Given the description of an element on the screen output the (x, y) to click on. 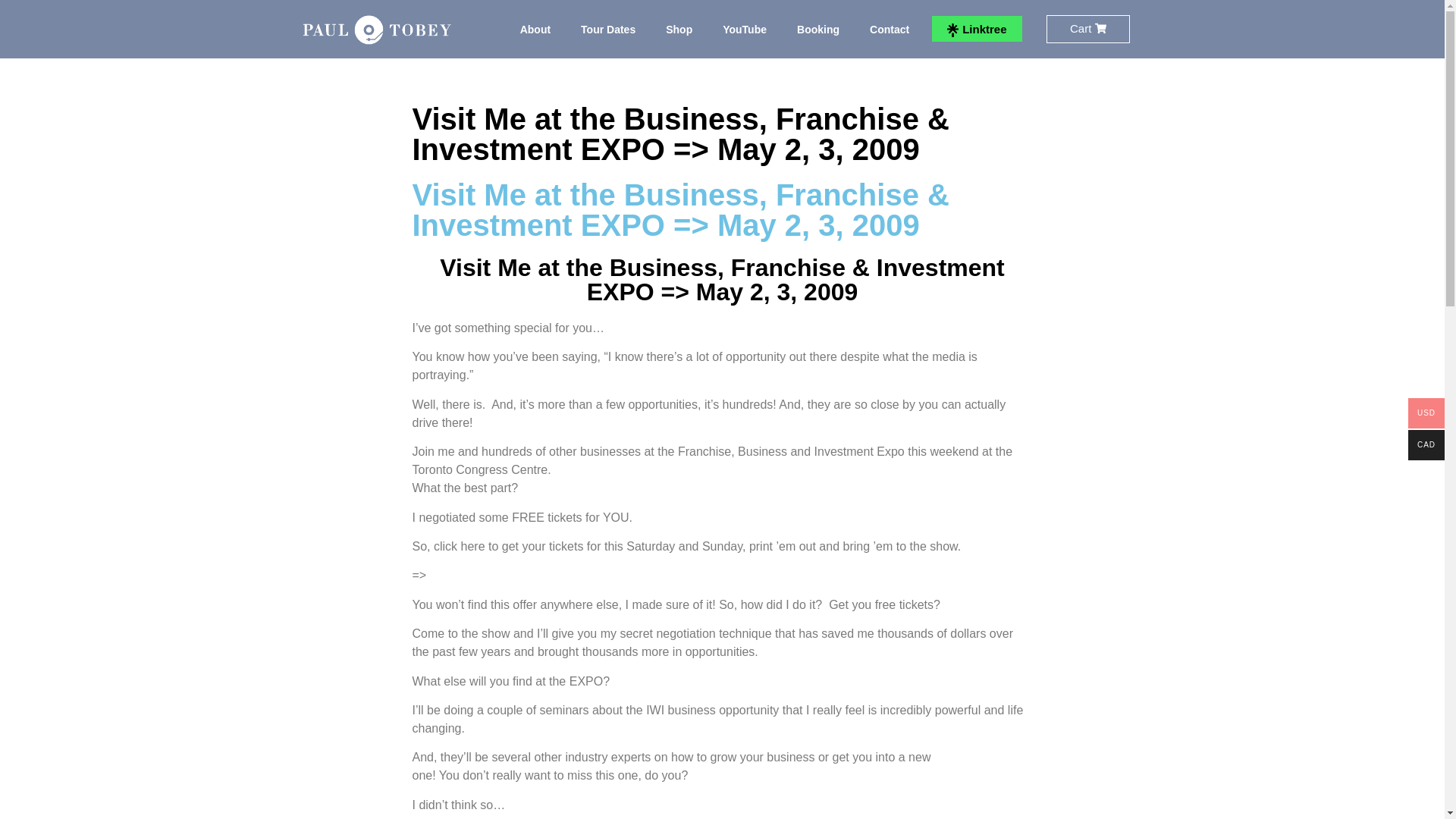
YouTube (744, 29)
Contact (889, 29)
Shop (678, 29)
About (535, 29)
Cart (1087, 29)
Booking (817, 29)
Linktree (976, 28)
Tour Dates (608, 29)
